Given the description of an element on the screen output the (x, y) to click on. 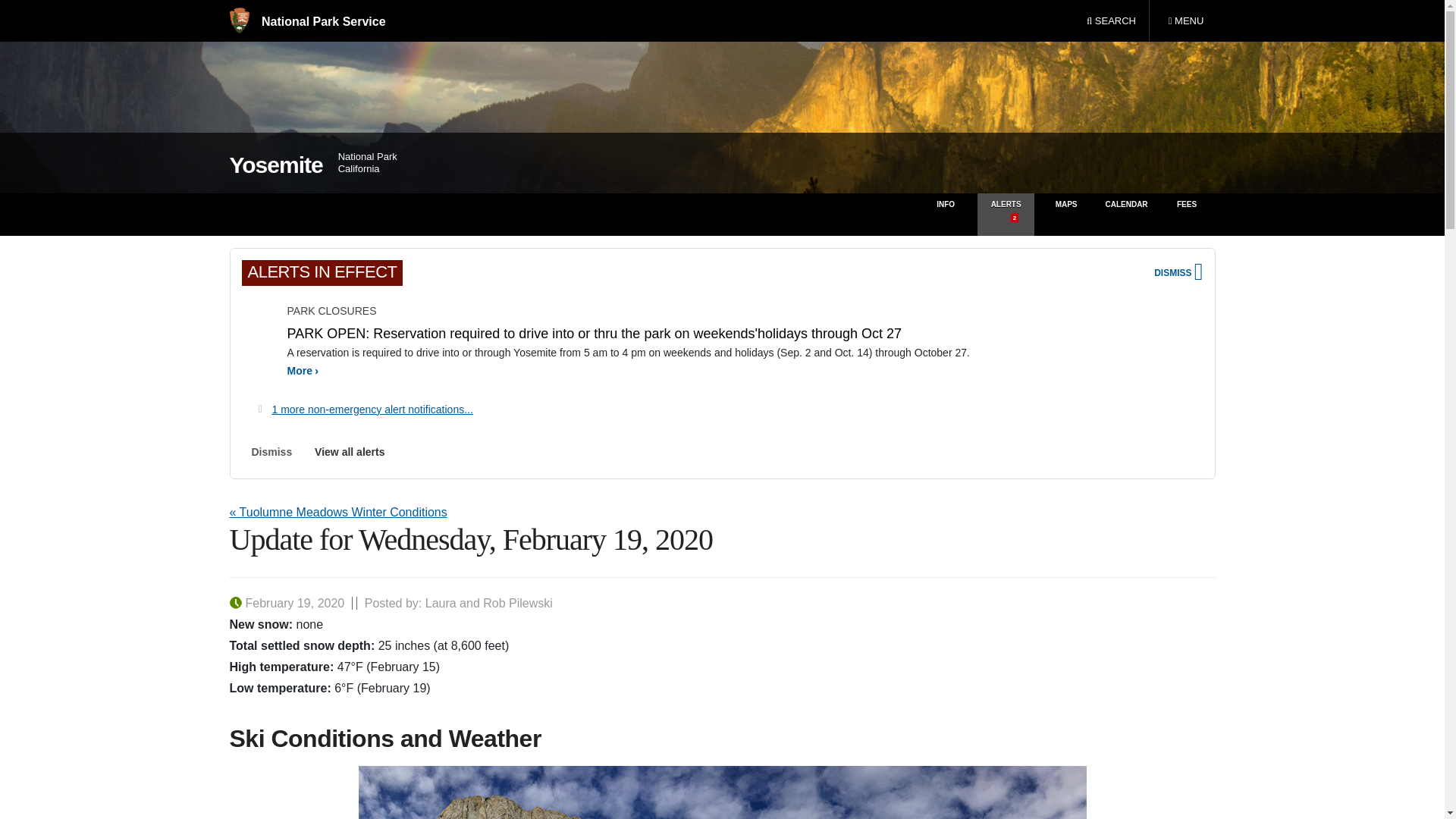
Alert Level Park Closure (259, 338)
INFO (945, 214)
SEARCH (1111, 20)
Matthes Lake and Matthes Crest on February 19, 2020. (1004, 214)
Yosemite (1185, 20)
National Park Service (722, 792)
